Given the description of an element on the screen output the (x, y) to click on. 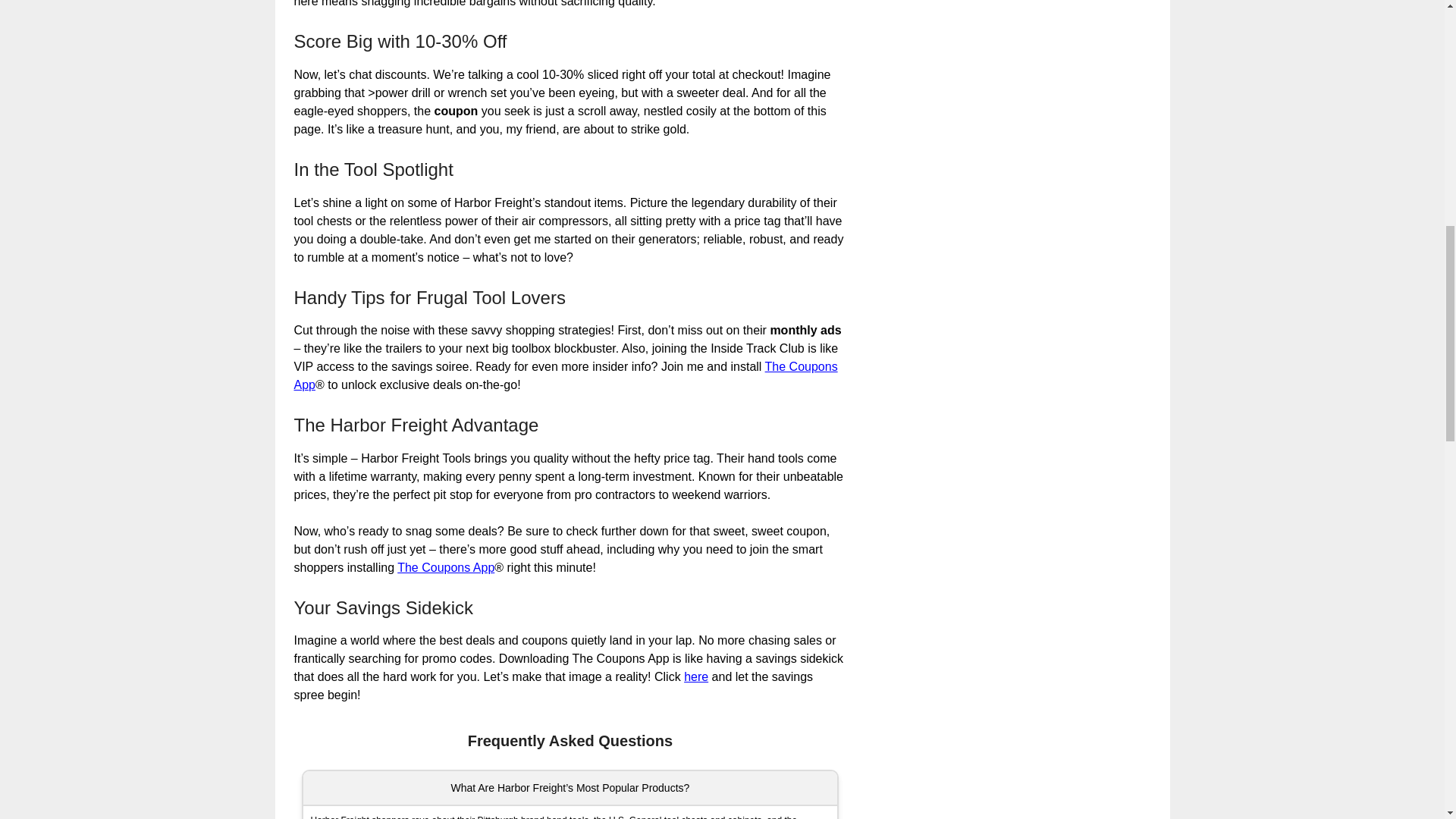
The Coupons App (566, 375)
here (695, 676)
The Coupons App (446, 567)
